Given the description of an element on the screen output the (x, y) to click on. 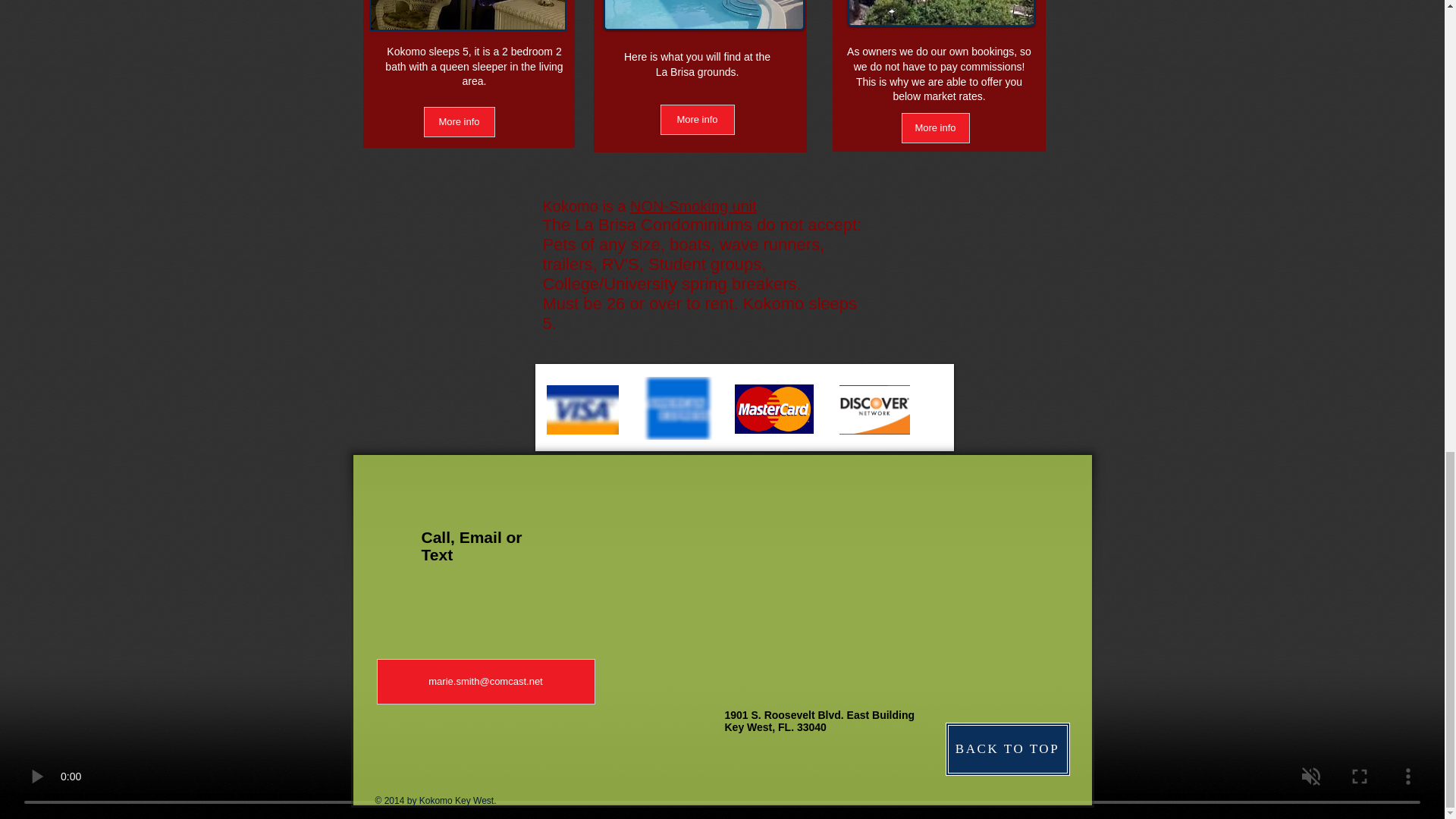
More info (935, 128)
More info (459, 122)
BACK TO TOP (1006, 748)
More info (696, 119)
